Given the description of an element on the screen output the (x, y) to click on. 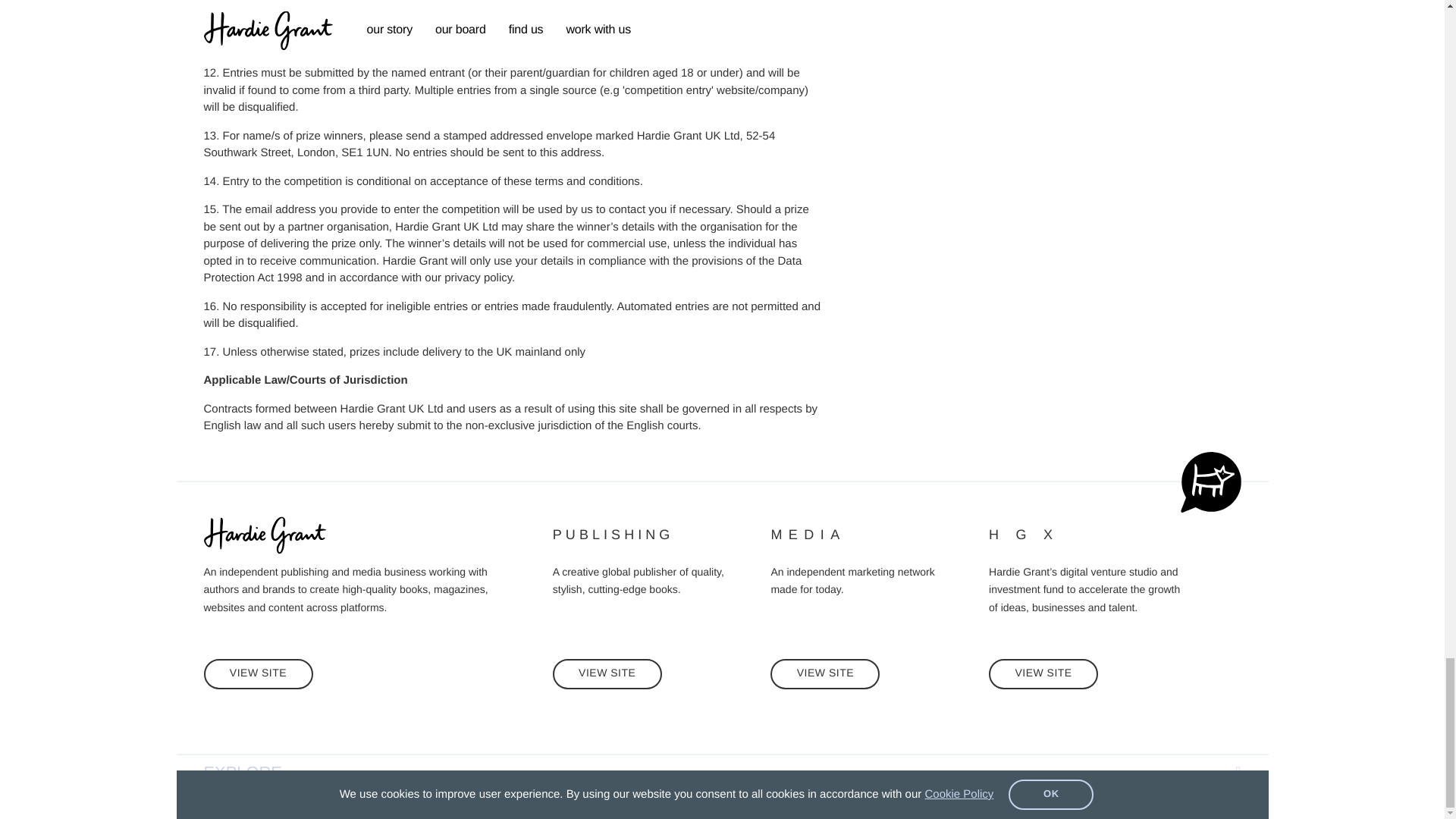
VIEW SITE (258, 674)
VIEW SITE (607, 674)
VIEW SITE (1042, 674)
EXPLORE (722, 772)
VIEW SITE (824, 674)
